Given the description of an element on the screen output the (x, y) to click on. 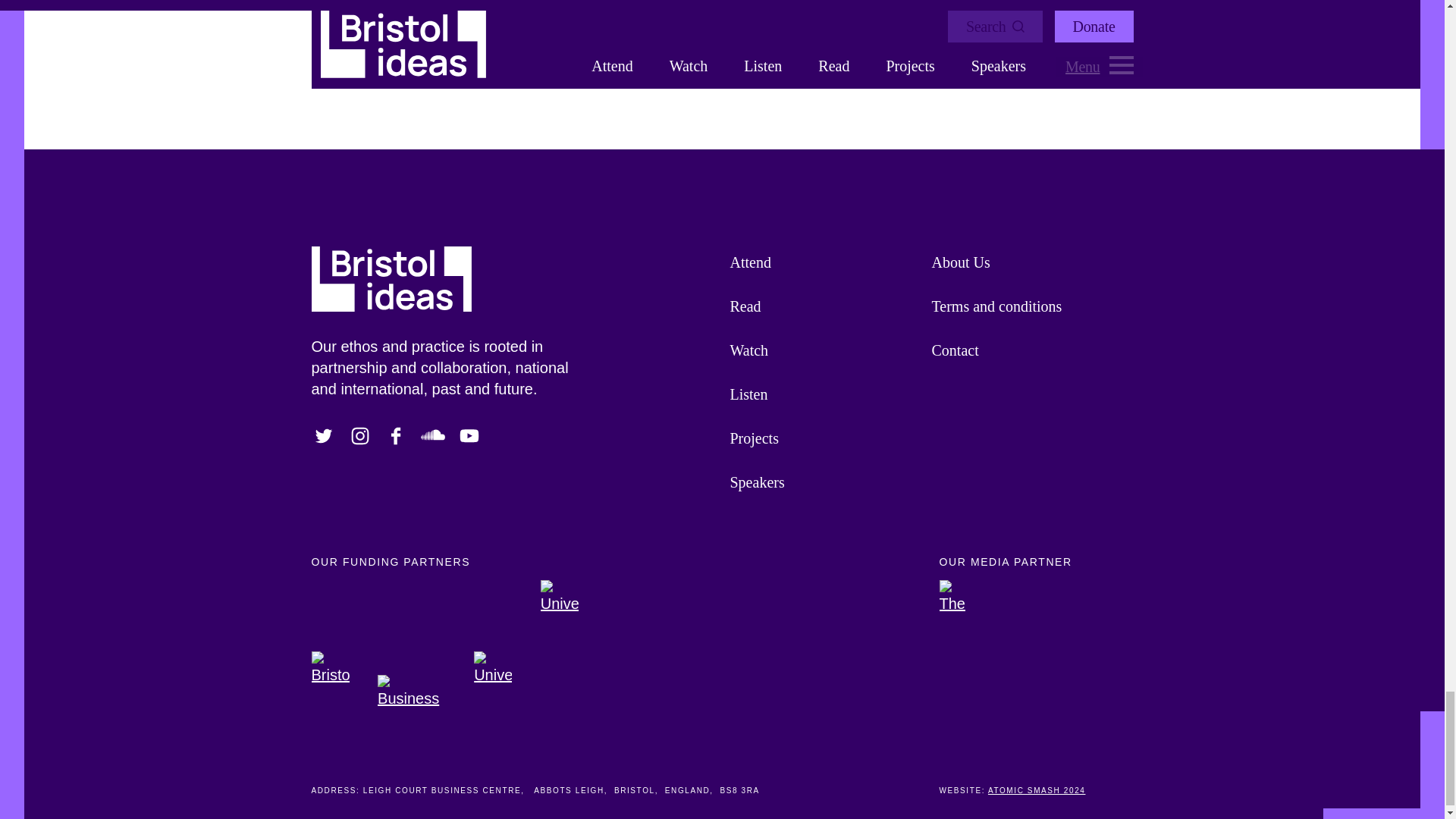
Attend (822, 262)
About Us (1024, 262)
Projects (822, 438)
Contact (1024, 350)
Listen (822, 394)
Read (822, 306)
Watch (822, 350)
Speakers (822, 482)
Terms and conditions (1024, 306)
